Given the description of an element on the screen output the (x, y) to click on. 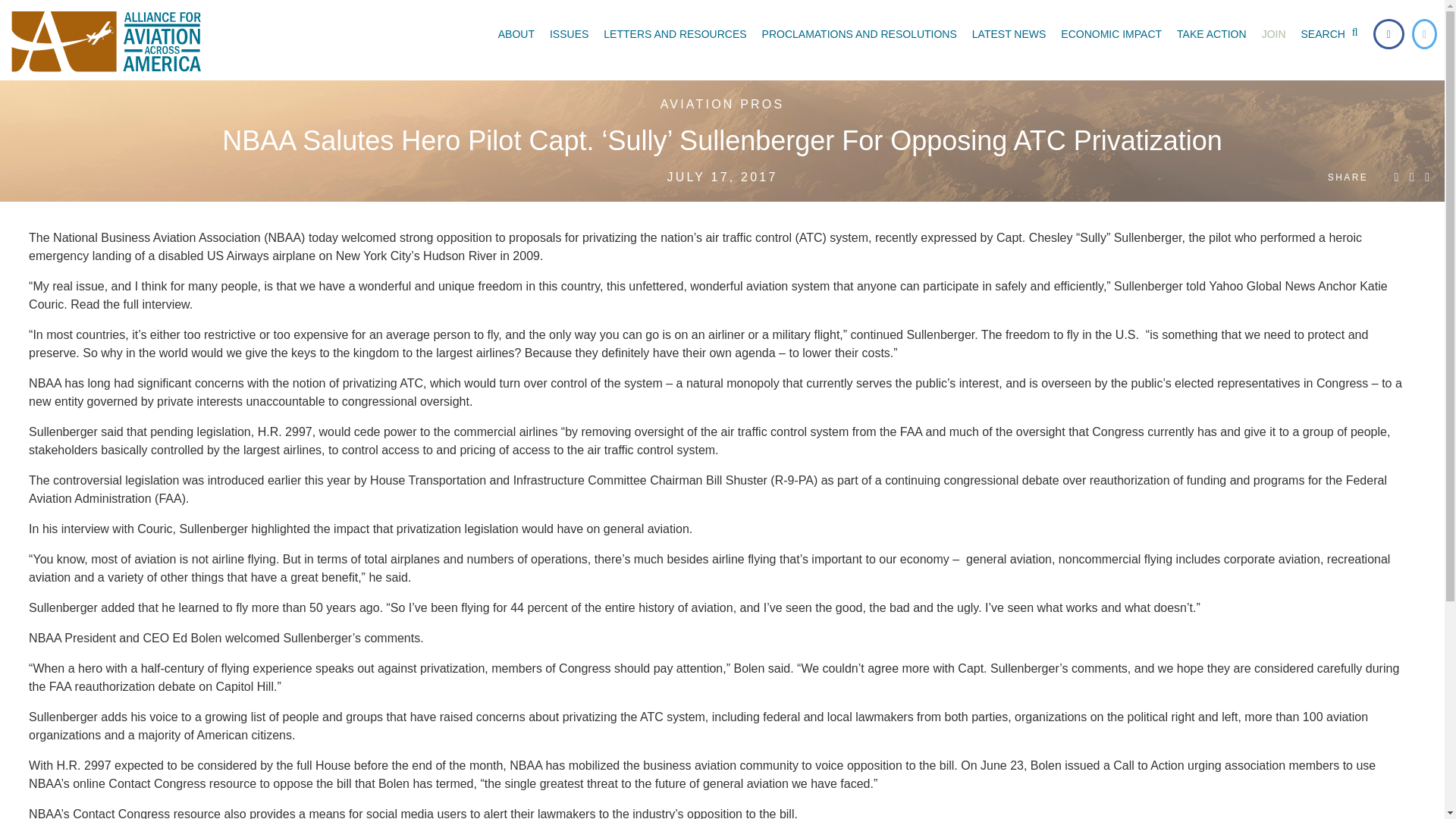
LATEST NEWS (1008, 33)
ECONOMIC IMPACT (1110, 33)
ABOUT (515, 33)
LETTERS AND RESOURCES (674, 33)
PROCLAMATIONS AND RESOLUTIONS (858, 33)
ISSUES (568, 33)
TAKE ACTION (1211, 33)
JOIN (1273, 33)
SEARCH (1333, 33)
